Given the description of an element on the screen output the (x, y) to click on. 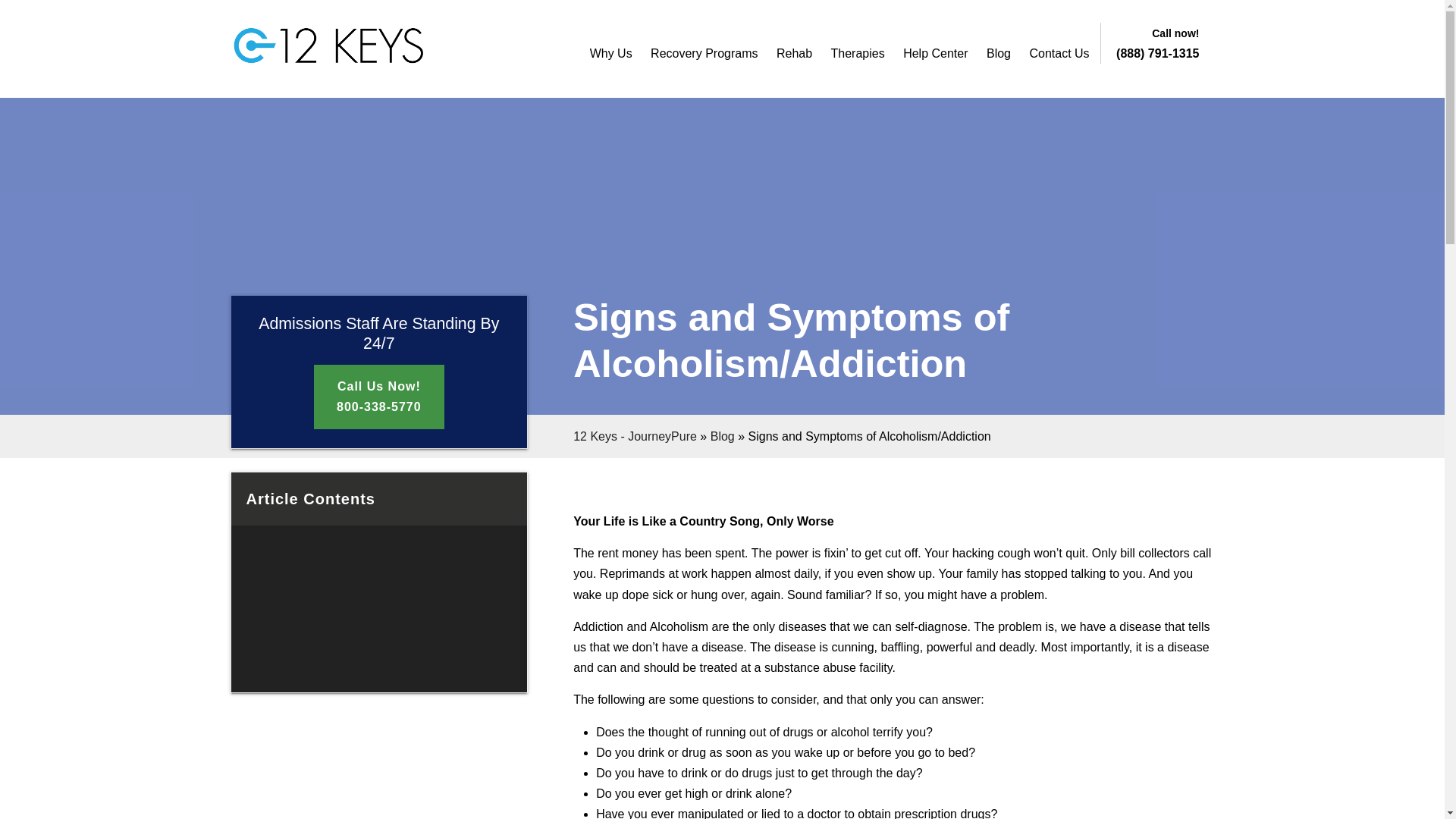
Why Us (610, 52)
Rehab (794, 52)
Recovery Programs (703, 52)
